Given the description of an element on the screen output the (x, y) to click on. 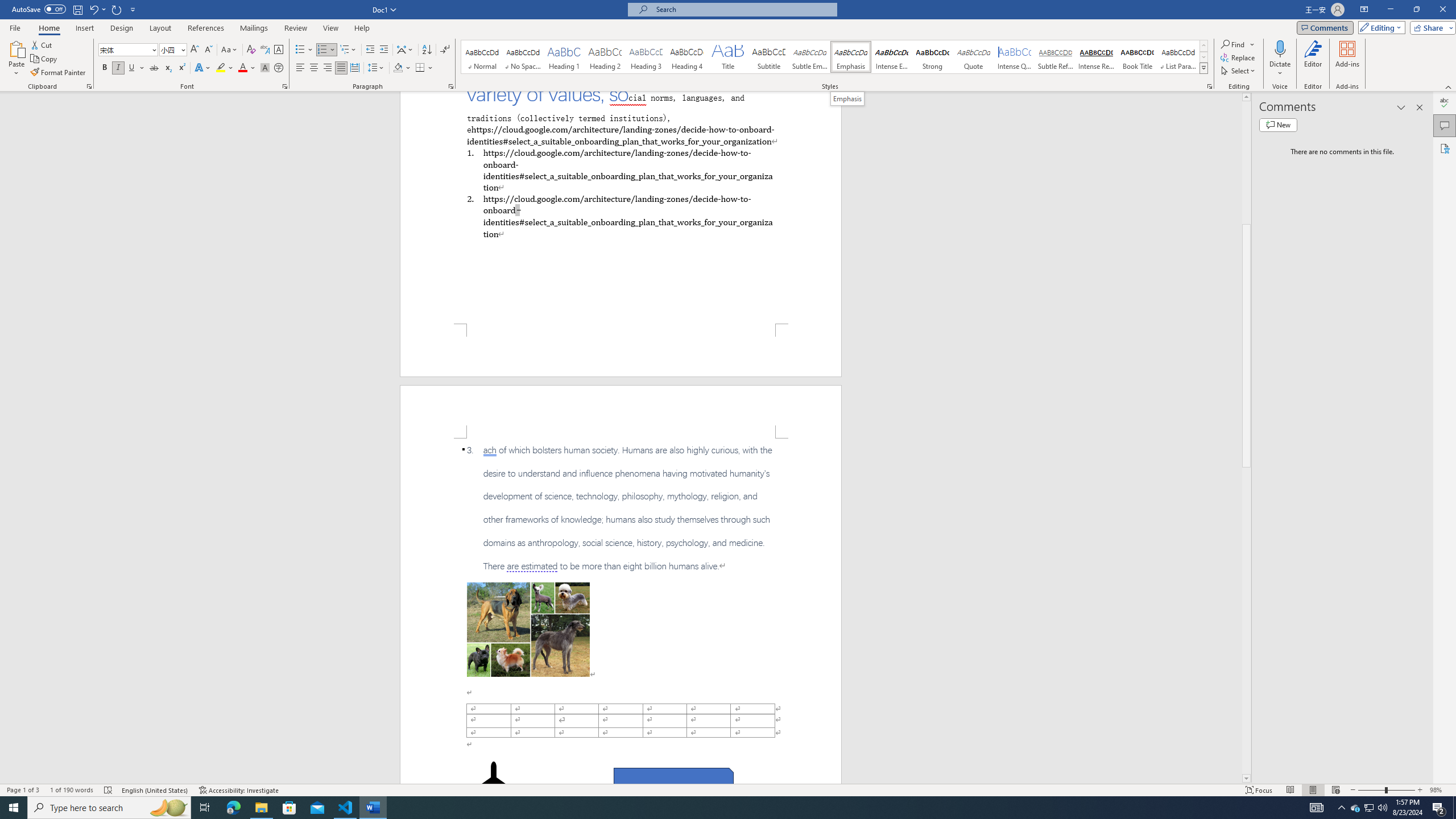
Undo Apply Quick Style (92, 9)
Intense Emphasis (891, 56)
Header -Section 1- (620, 411)
3. (620, 507)
